Given the description of an element on the screen output the (x, y) to click on. 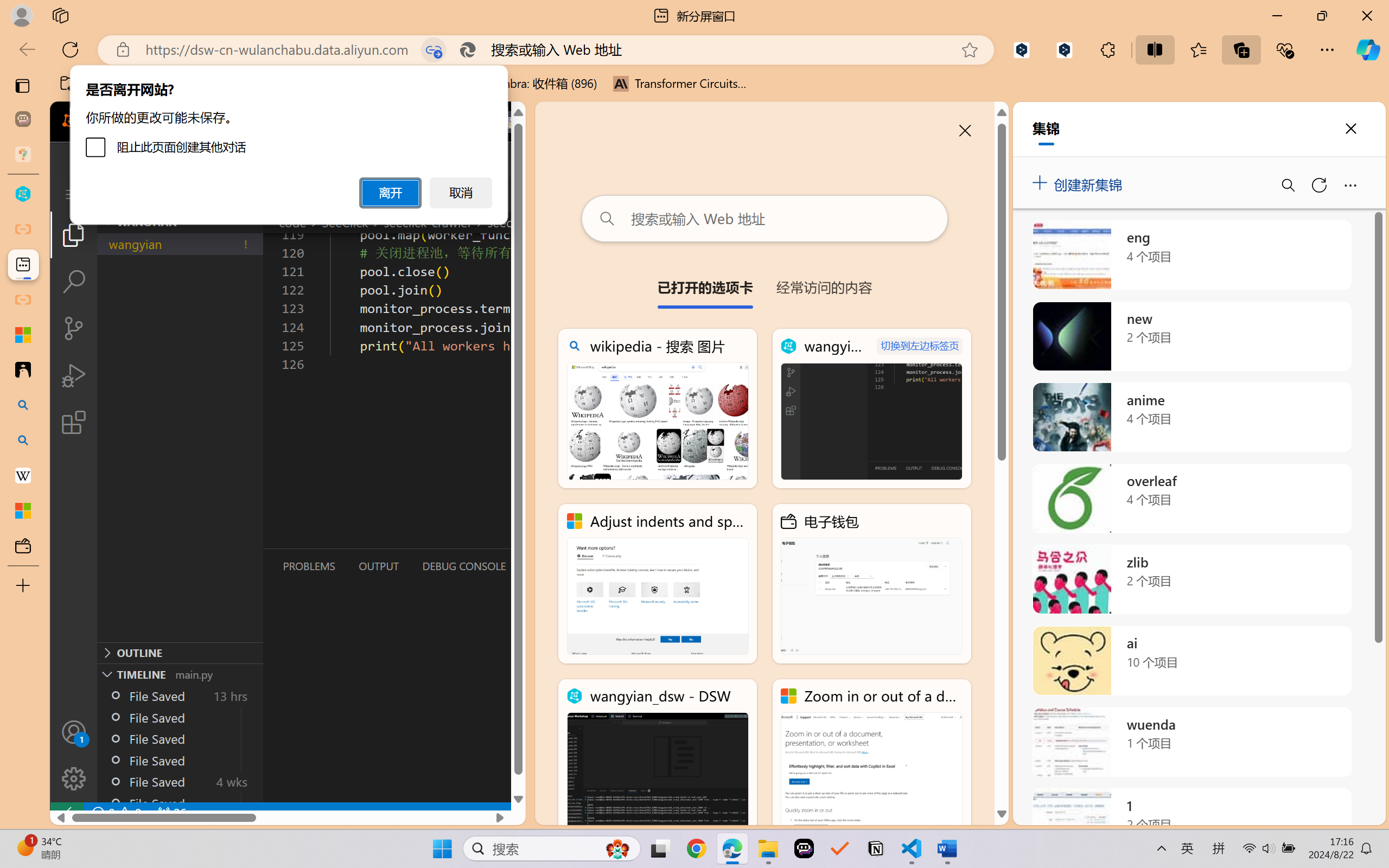
Copilot (Ctrl+Shift+.) (1368, 49)
Adjust indents and spacing - Microsoft Support (22, 334)
wangyian_dsw - DSW (657, 758)
